Given the description of an element on the screen output the (x, y) to click on. 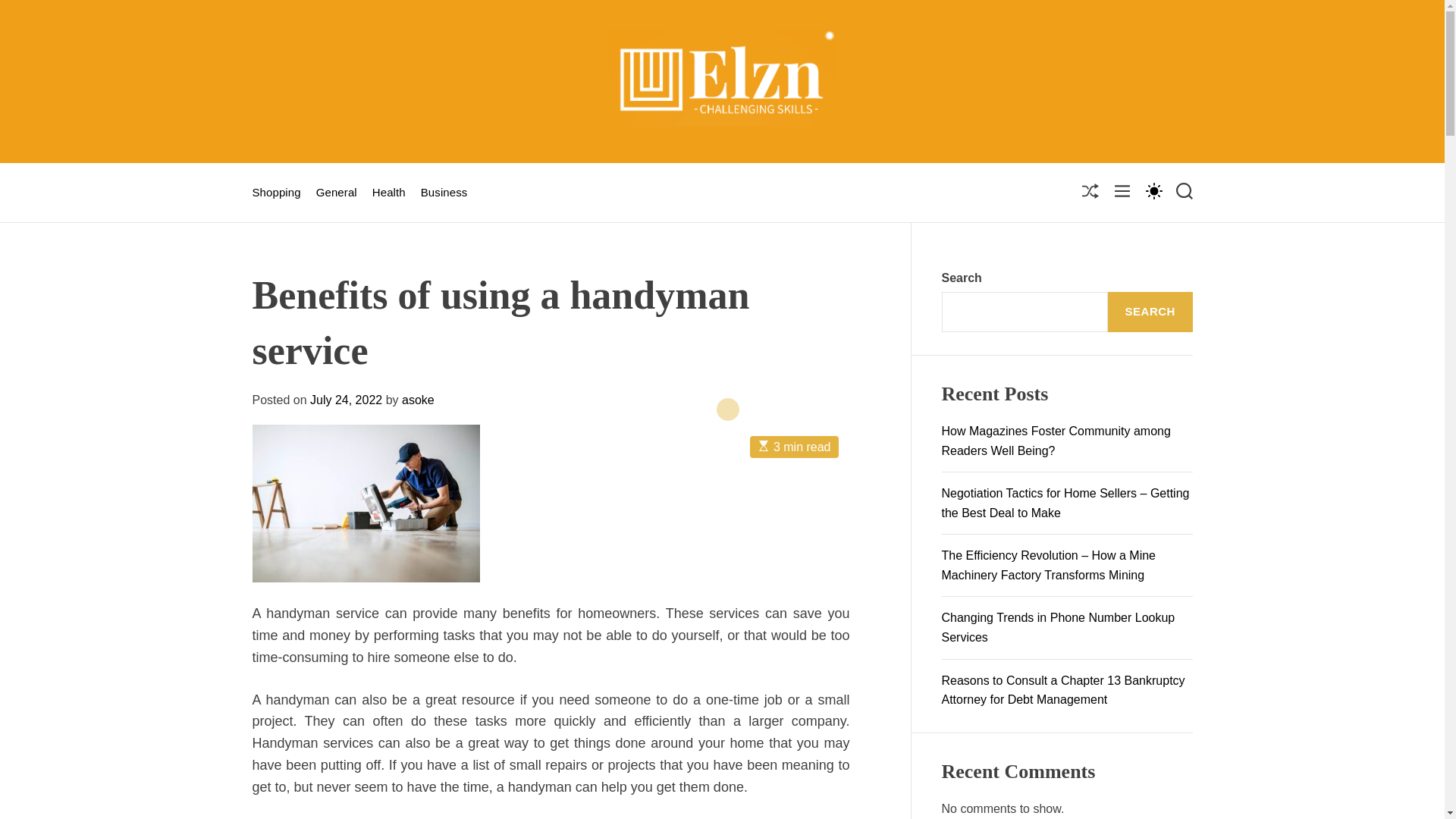
Shopping (275, 192)
Health (389, 192)
How Magazines Foster Community among Readers Well Being? (1056, 441)
Business (443, 192)
July 24, 2022 (345, 399)
asoke (417, 399)
General (335, 192)
SEARCH (1150, 311)
SWITCH COLOR MODE (1152, 190)
